Given the description of an element on the screen output the (x, y) to click on. 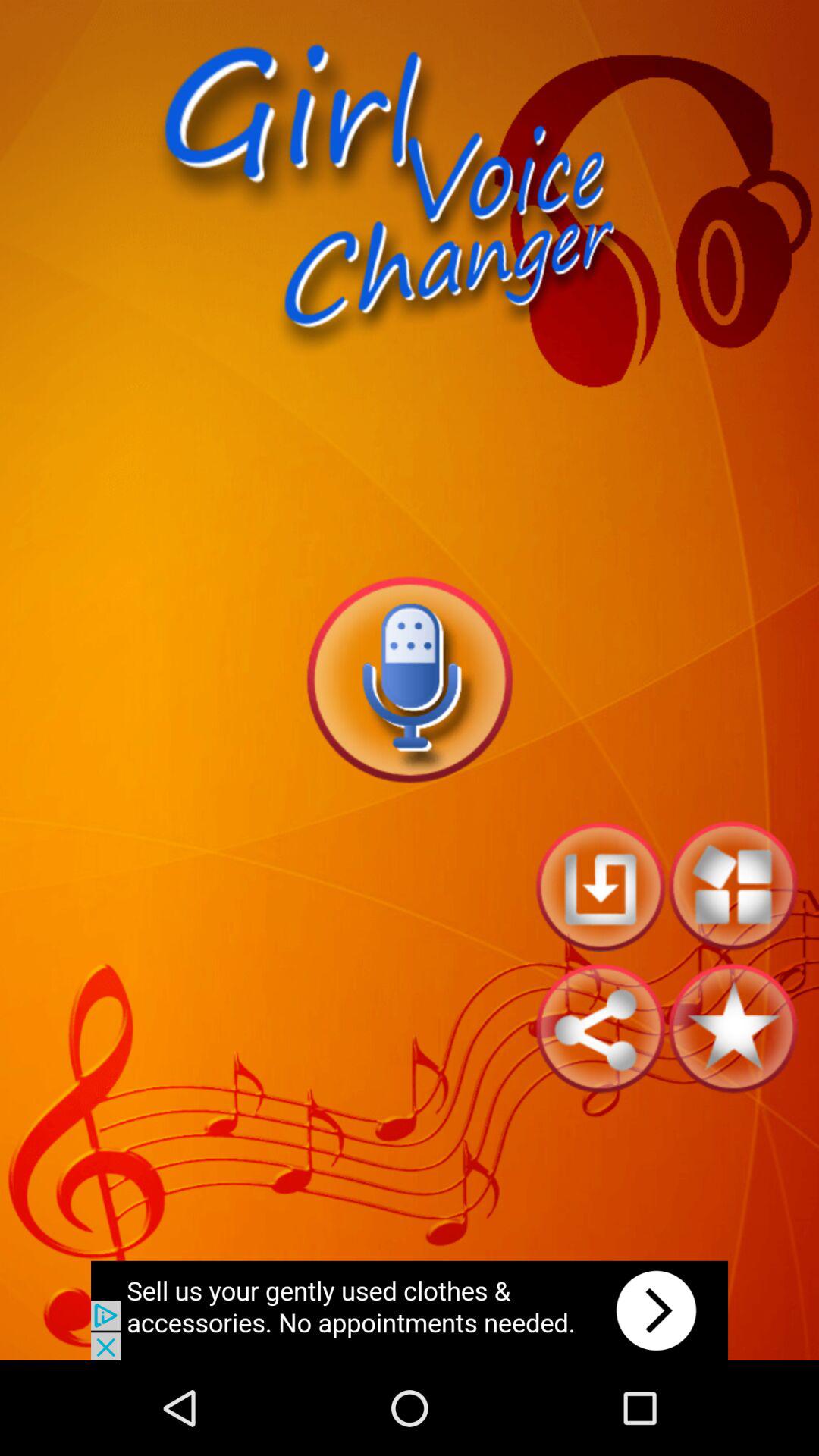
record voice (408, 679)
